Given the description of an element on the screen output the (x, y) to click on. 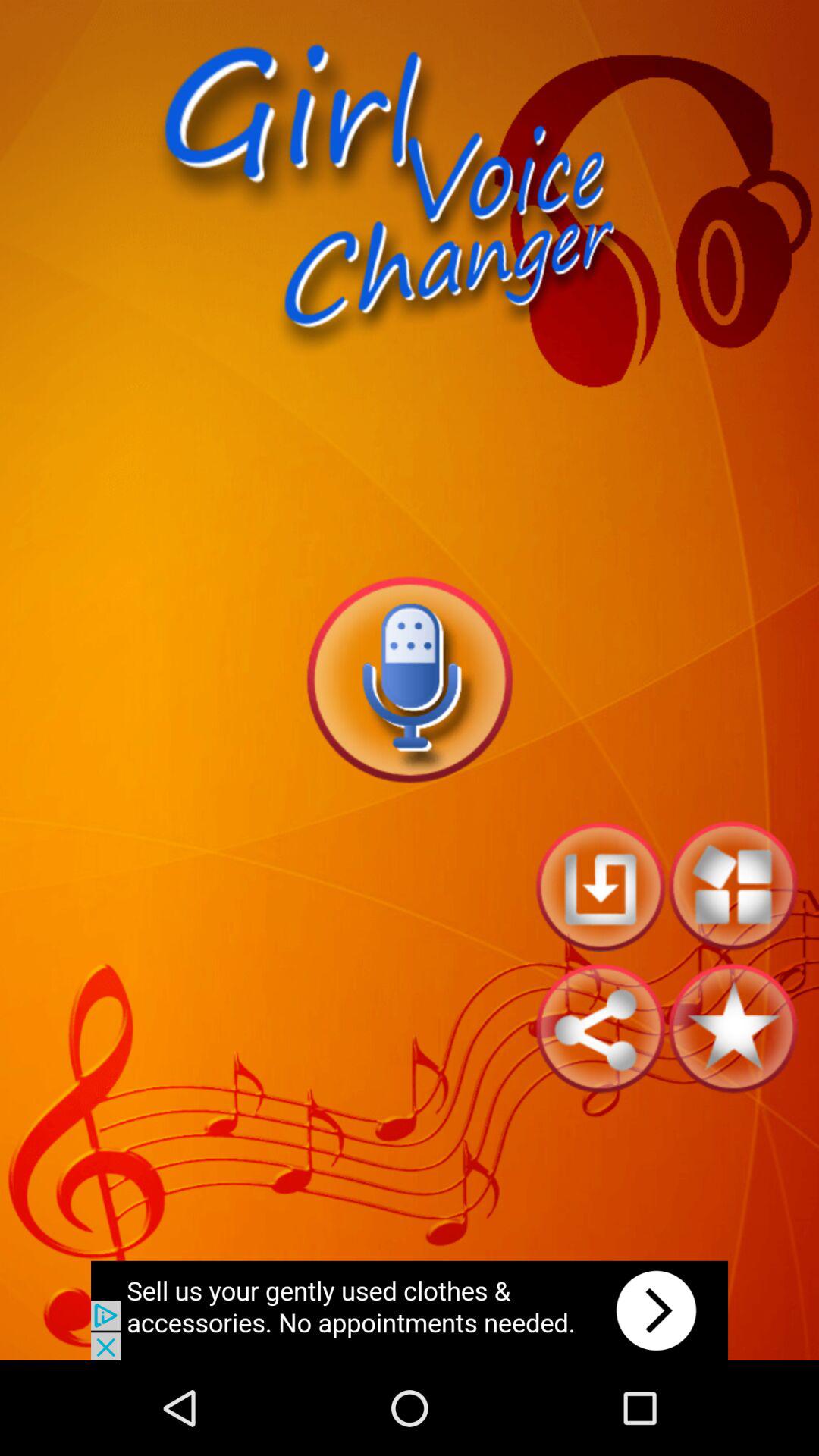
record voice (408, 679)
